Given the description of an element on the screen output the (x, y) to click on. 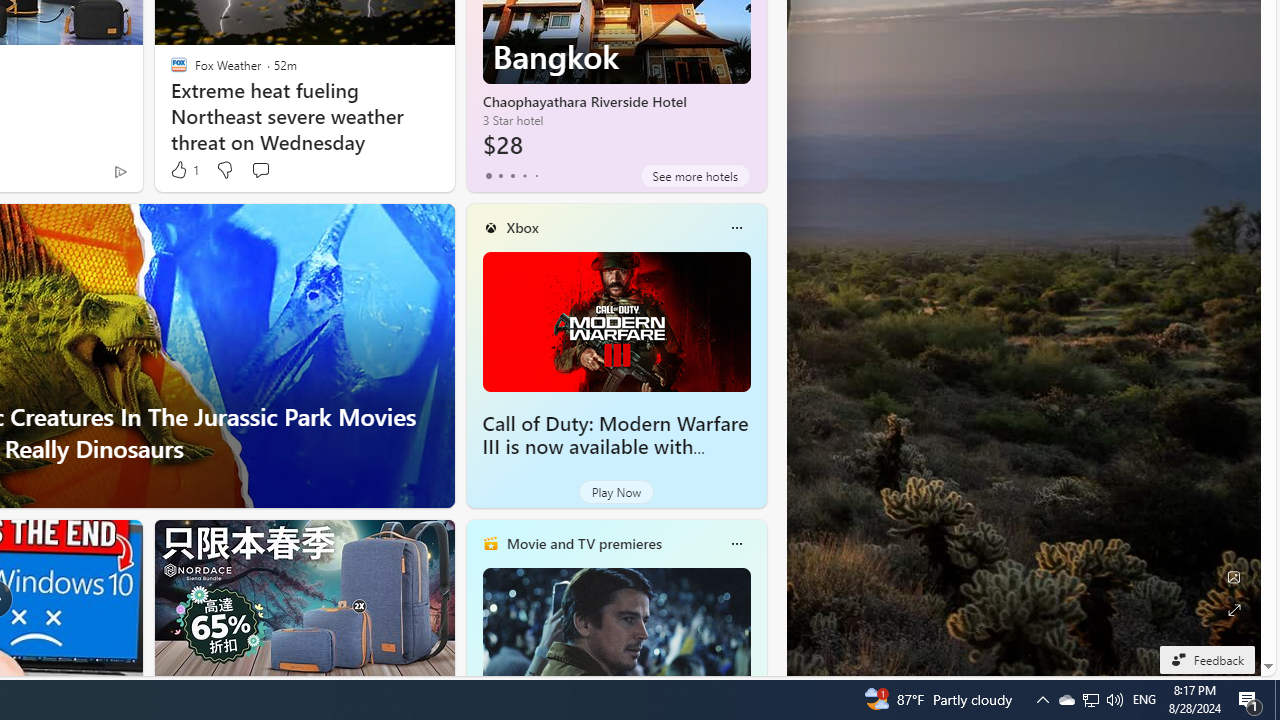
Expand background (1233, 610)
tab-0 (488, 175)
Edit Background (1233, 577)
tab-1 (500, 175)
tab-4 (535, 175)
